Given the description of an element on the screen output the (x, y) to click on. 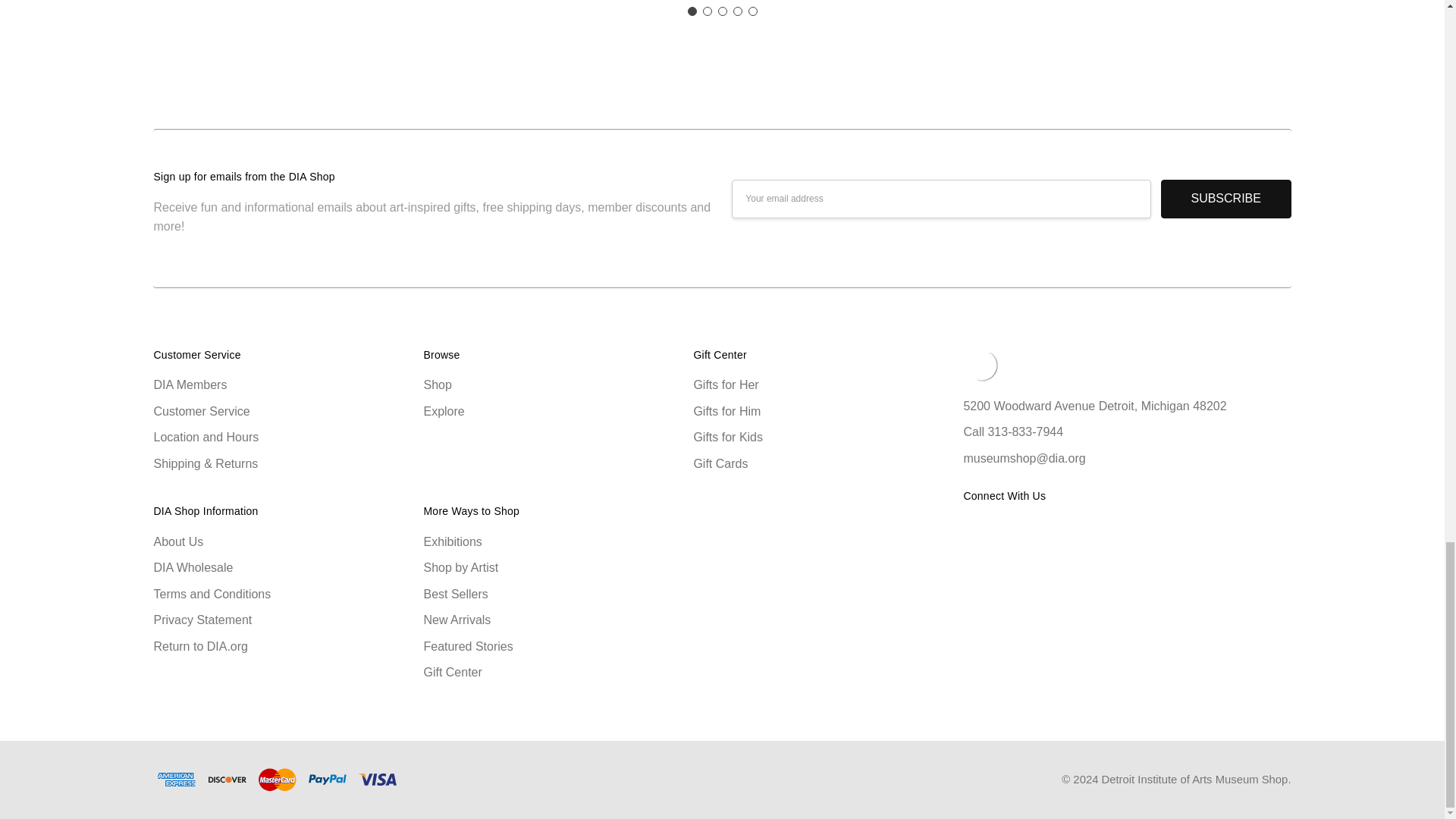
Subscribe (1225, 198)
Detroit Institute of Arts Museum Shop (981, 365)
